Given the description of an element on the screen output the (x, y) to click on. 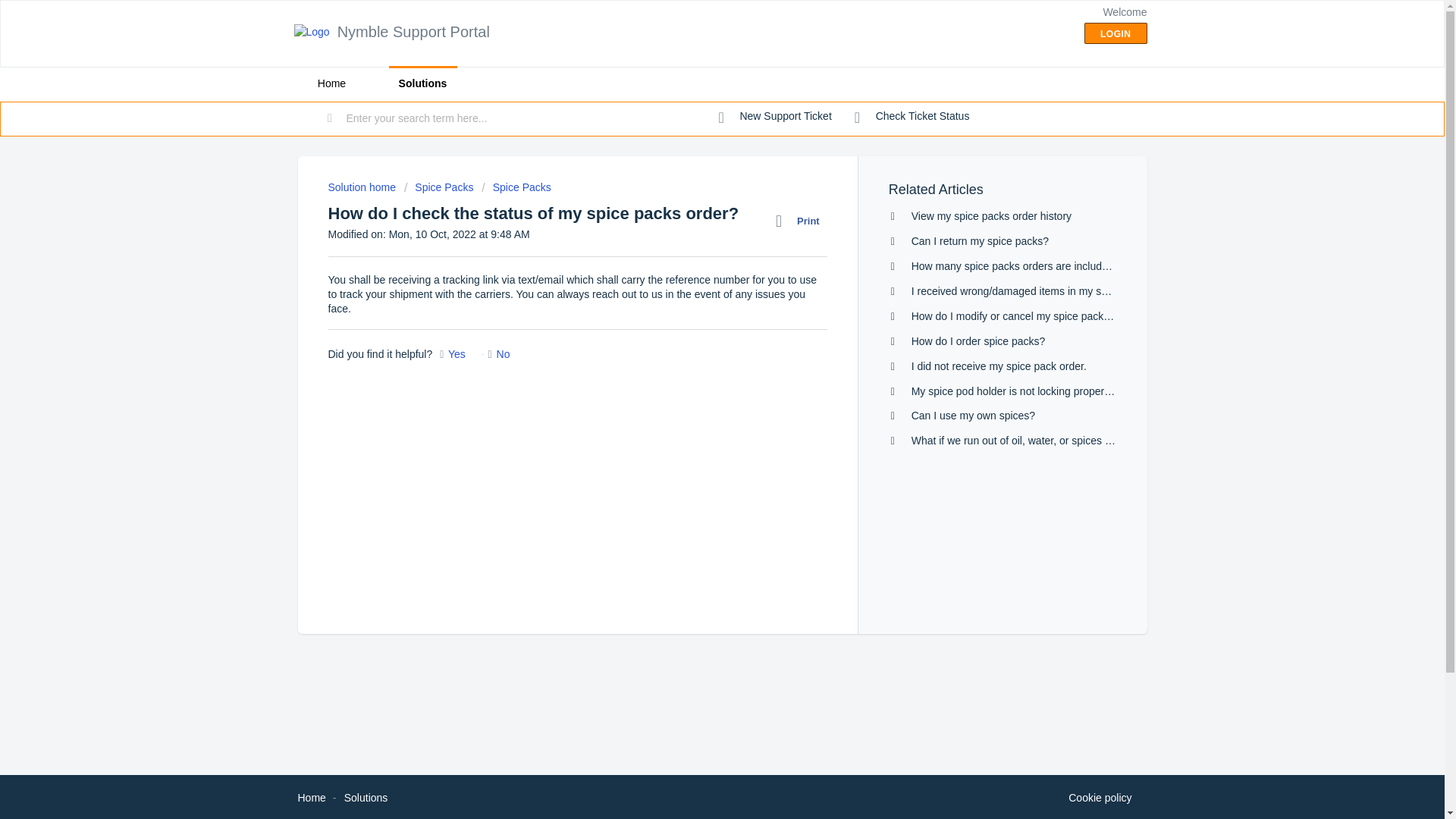
Solution home (362, 186)
Why we love Cookies (1099, 798)
LOGIN (1115, 33)
How do I order spice packs? (978, 340)
View my spice packs order history (991, 215)
How do I modify or cancel my spice pack order? (1024, 316)
Check Ticket Status (911, 116)
Spice Packs (439, 186)
Cookie policy (1099, 798)
